Given the description of an element on the screen output the (x, y) to click on. 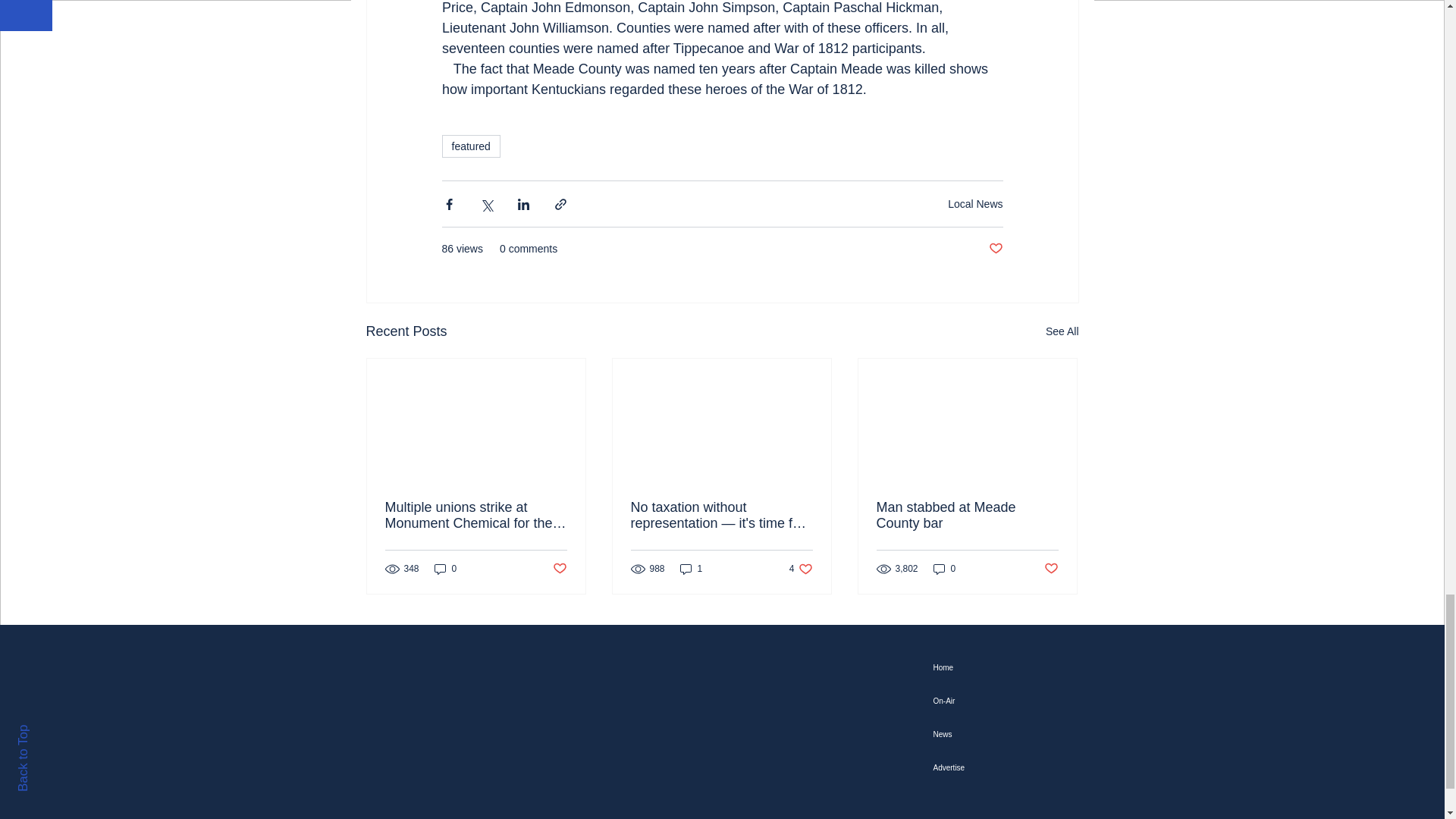
Local News (975, 203)
See All (1061, 332)
1 (691, 568)
featured (470, 146)
Post not marked as liked (995, 248)
Post not marked as liked (558, 569)
Man stabbed at Meade County bar (967, 515)
0 (445, 568)
0 (944, 568)
Post not marked as liked (1050, 569)
